Given the description of an element on the screen output the (x, y) to click on. 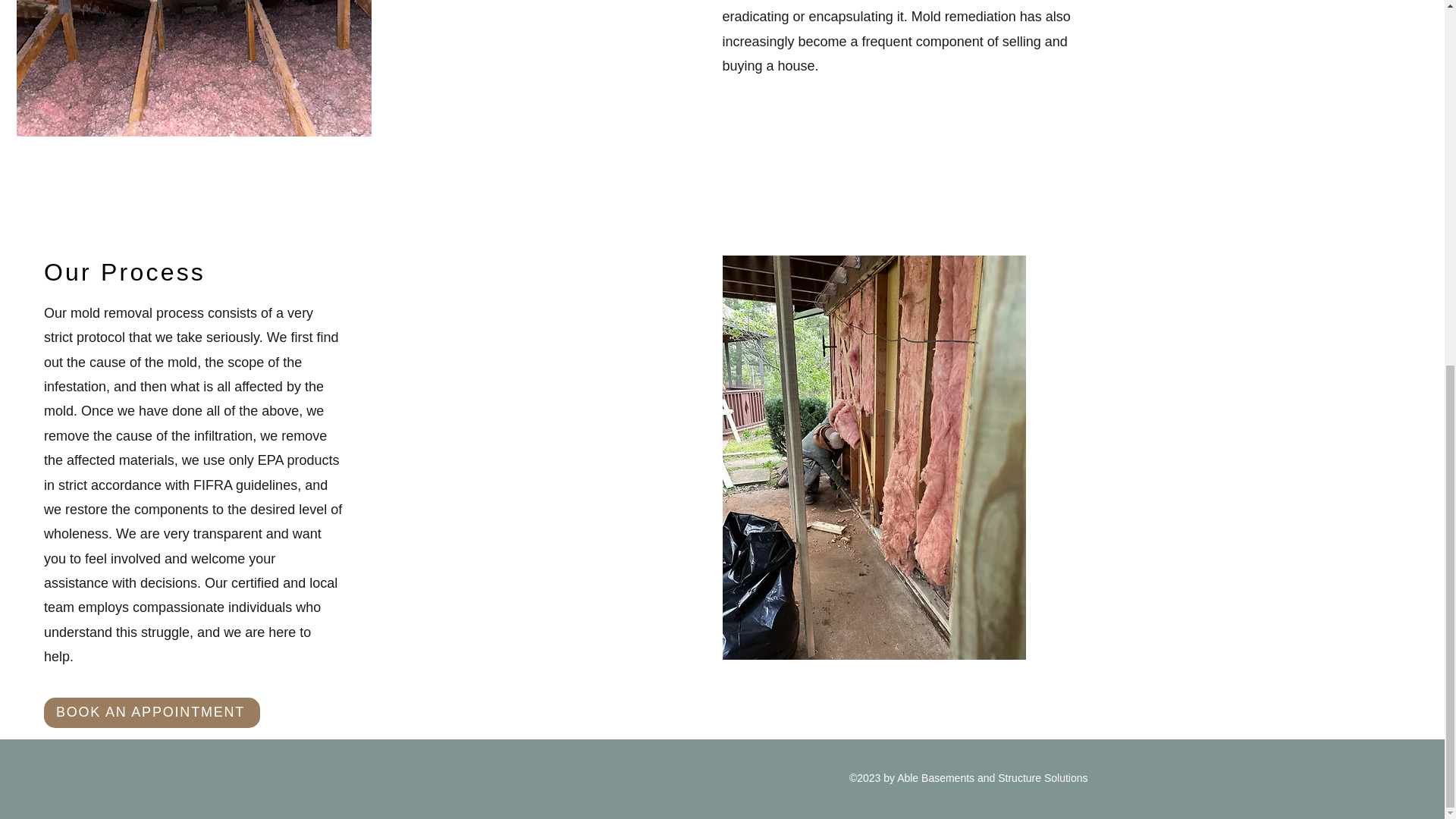
BOOK AN APPOINTMENT (151, 712)
